Given the description of an element on the screen output the (x, y) to click on. 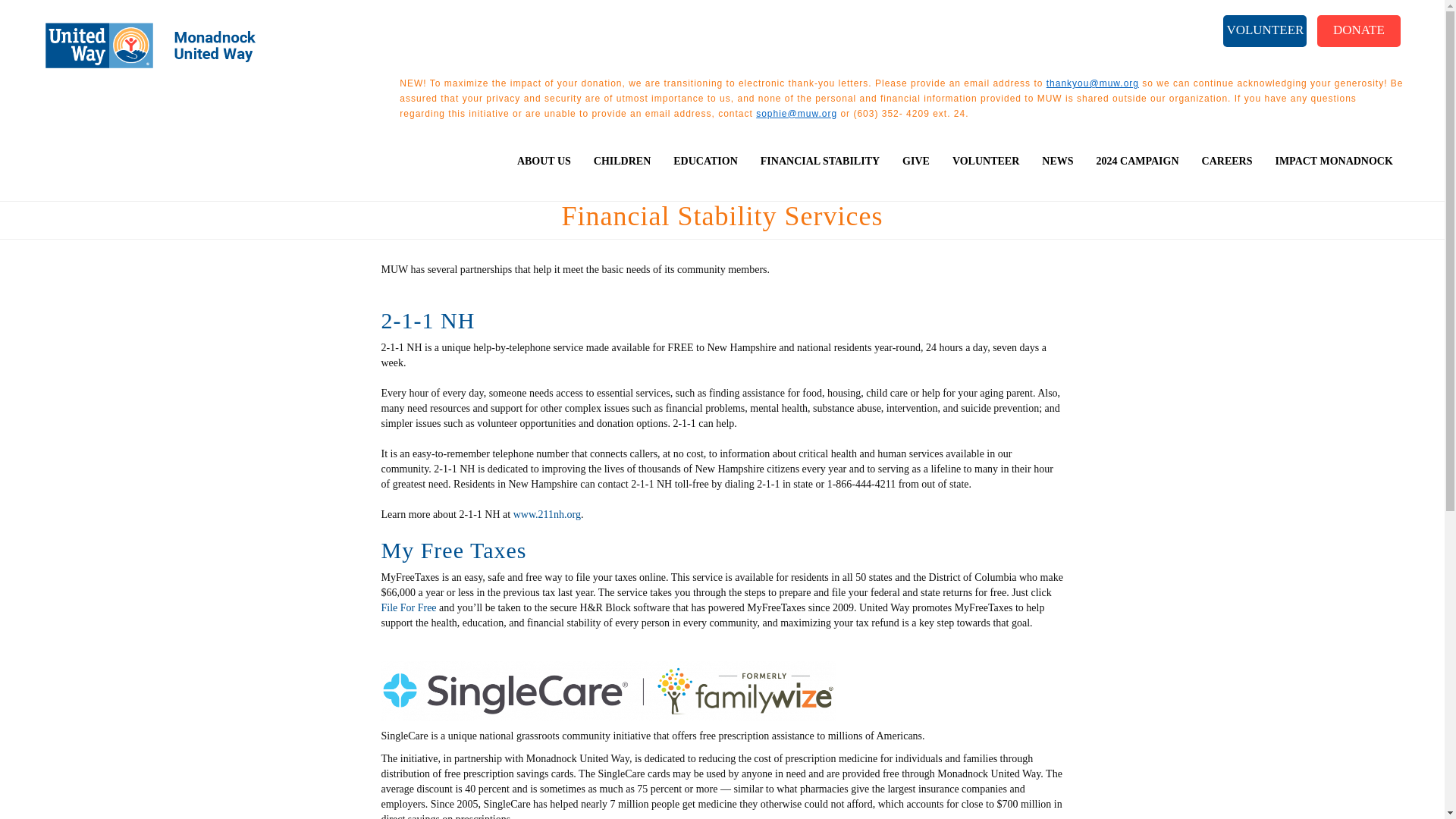
VOLUNTEER (1264, 30)
EDUCATION (705, 173)
ABOUT US (543, 173)
CHILDREN (622, 173)
Give Now (1358, 30)
FINANCIAL STABILITY (820, 173)
DONATE (1358, 30)
Home (153, 45)
